Given the description of an element on the screen output the (x, y) to click on. 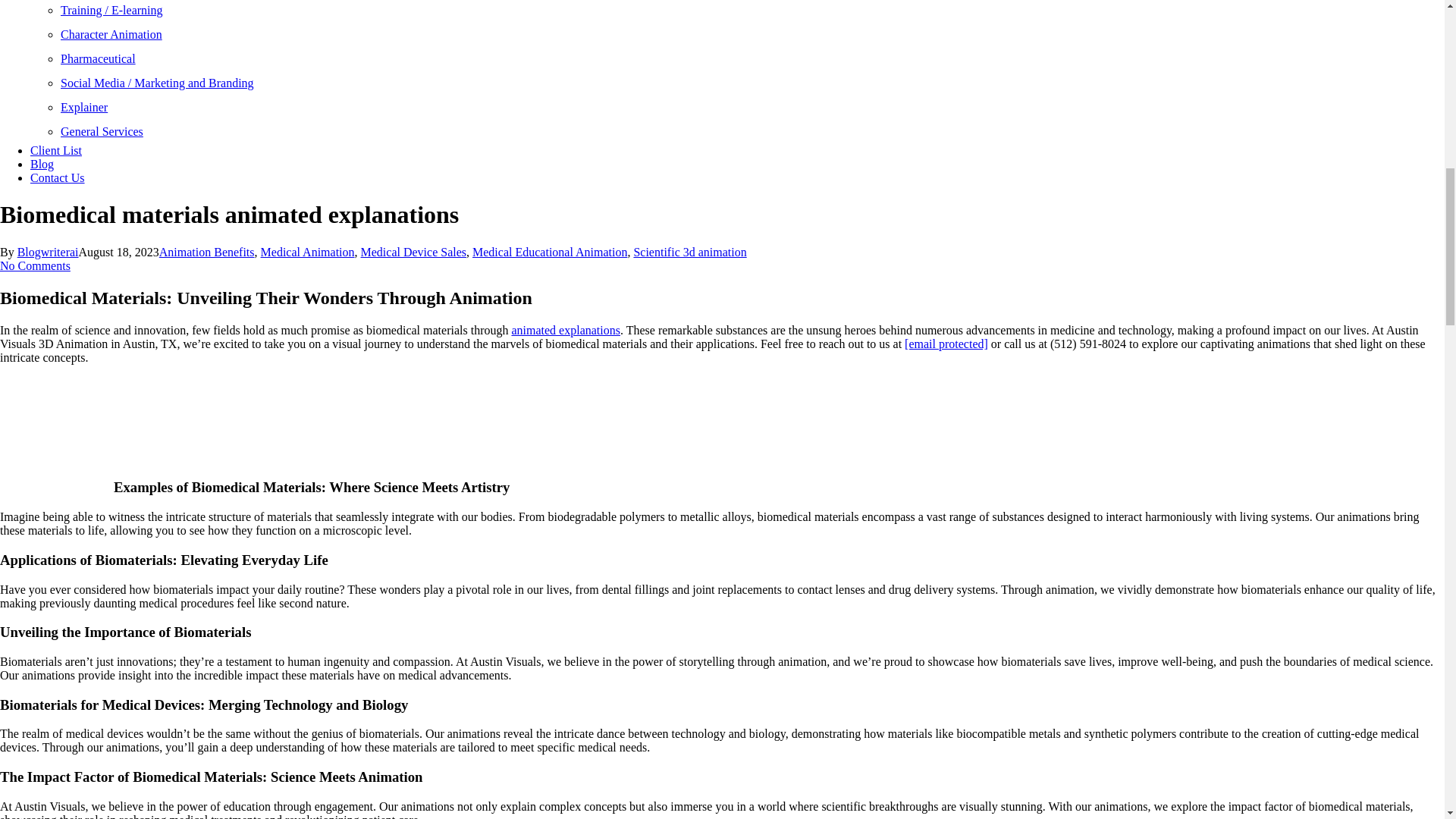
Posts by Blogwriterai (47, 251)
